Given the description of an element on the screen output the (x, y) to click on. 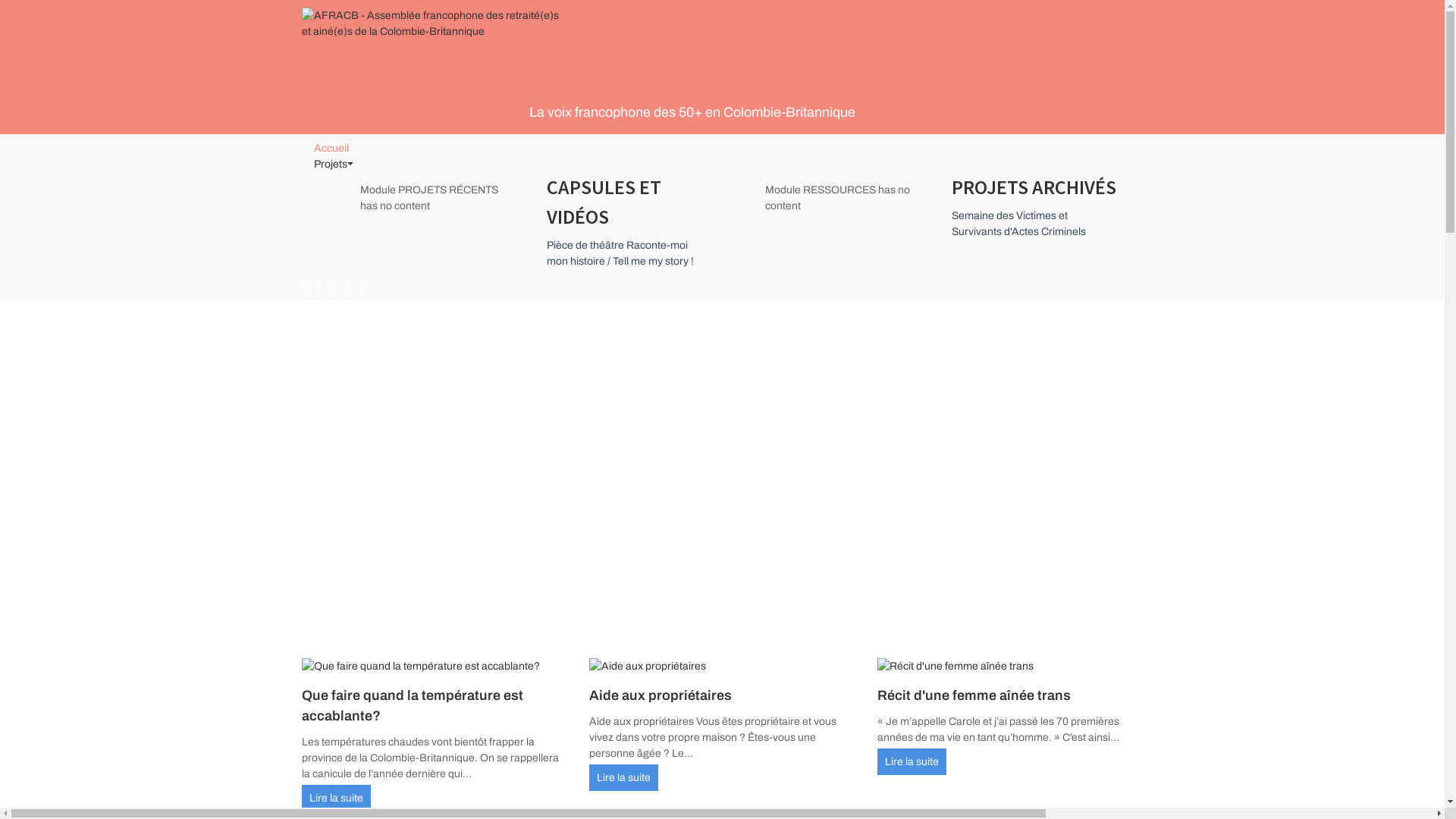
Projets Element type: text (722, 165)
Accueil Element type: text (330, 149)
Lire la suite Element type: text (623, 777)
Lire la suite Element type: text (911, 761)
Semaine des Victimes et Survivants d'Actes Criminels Element type: text (1017, 223)
Lire la suite Element type: text (335, 797)
